Given the description of an element on the screen output the (x, y) to click on. 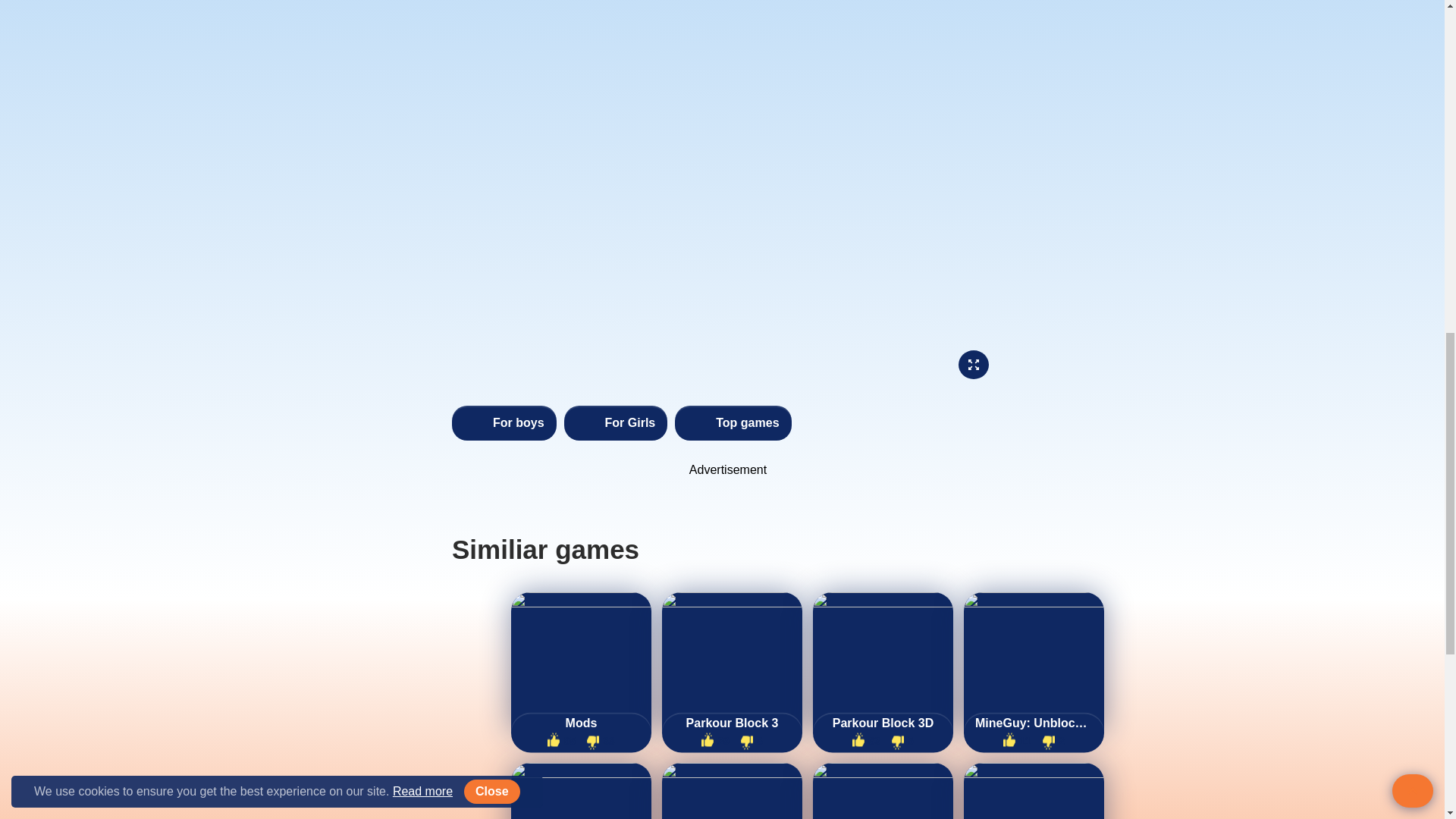
Mods (581, 722)
MineGuy: Unblockable (1034, 722)
Top games (732, 422)
For boys (503, 422)
For Girls (616, 422)
Mods (581, 722)
Parkour Block 3D (883, 722)
Parkour Block 3 (731, 722)
